Given the description of an element on the screen output the (x, y) to click on. 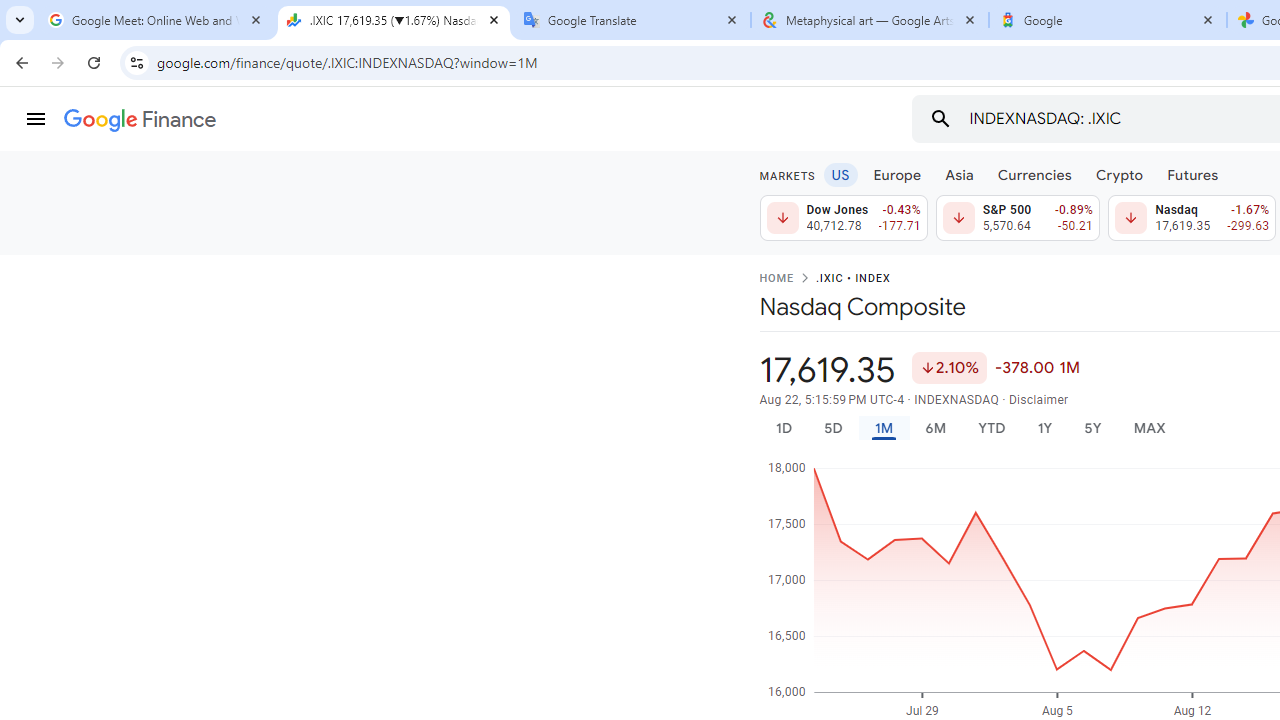
Asia (958, 174)
1D (783, 427)
